Given the description of an element on the screen output the (x, y) to click on. 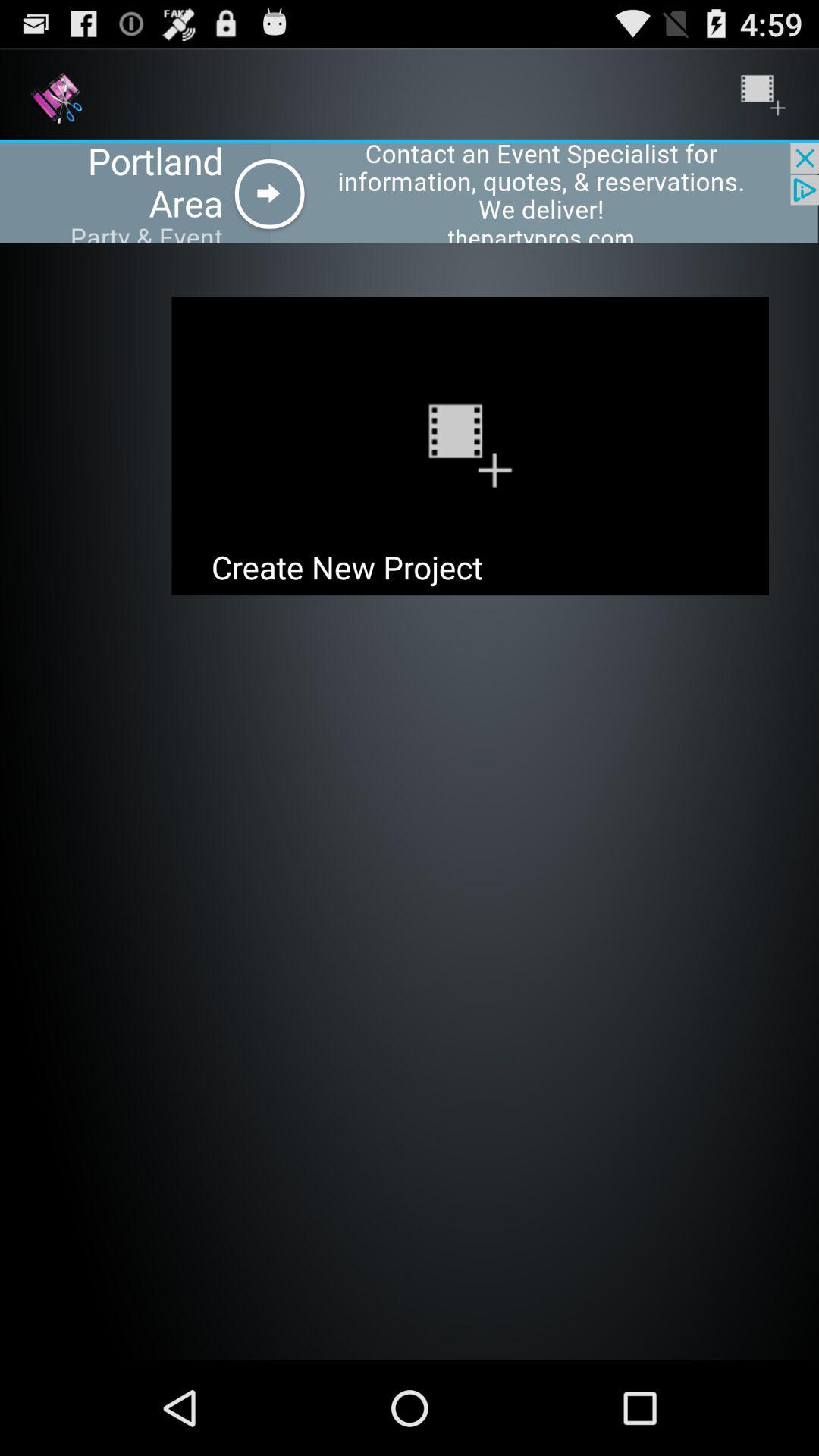
open advertisement (409, 192)
